Given the description of an element on the screen output the (x, y) to click on. 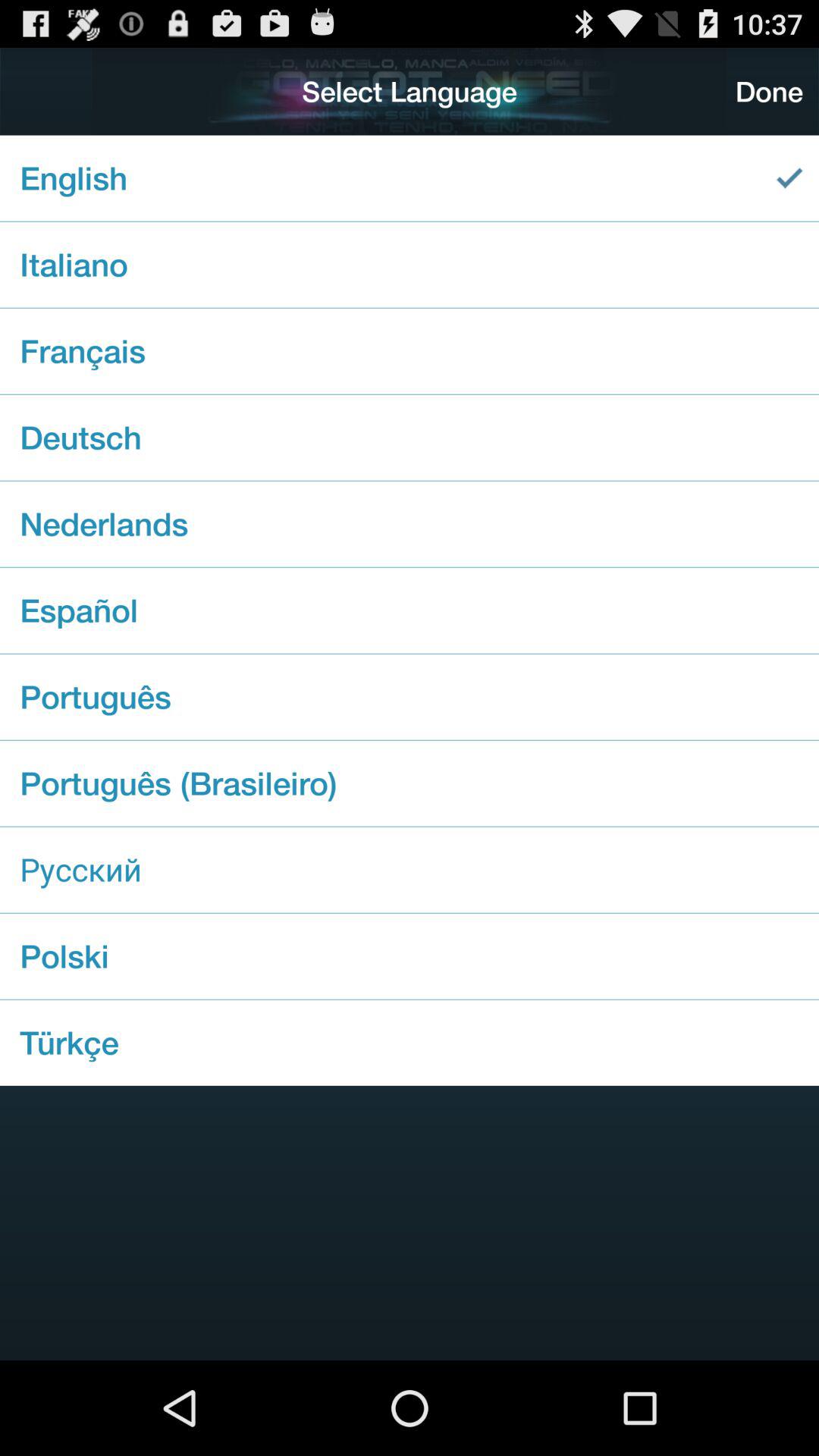
select the icon at the top right corner (769, 91)
